Given the description of an element on the screen output the (x, y) to click on. 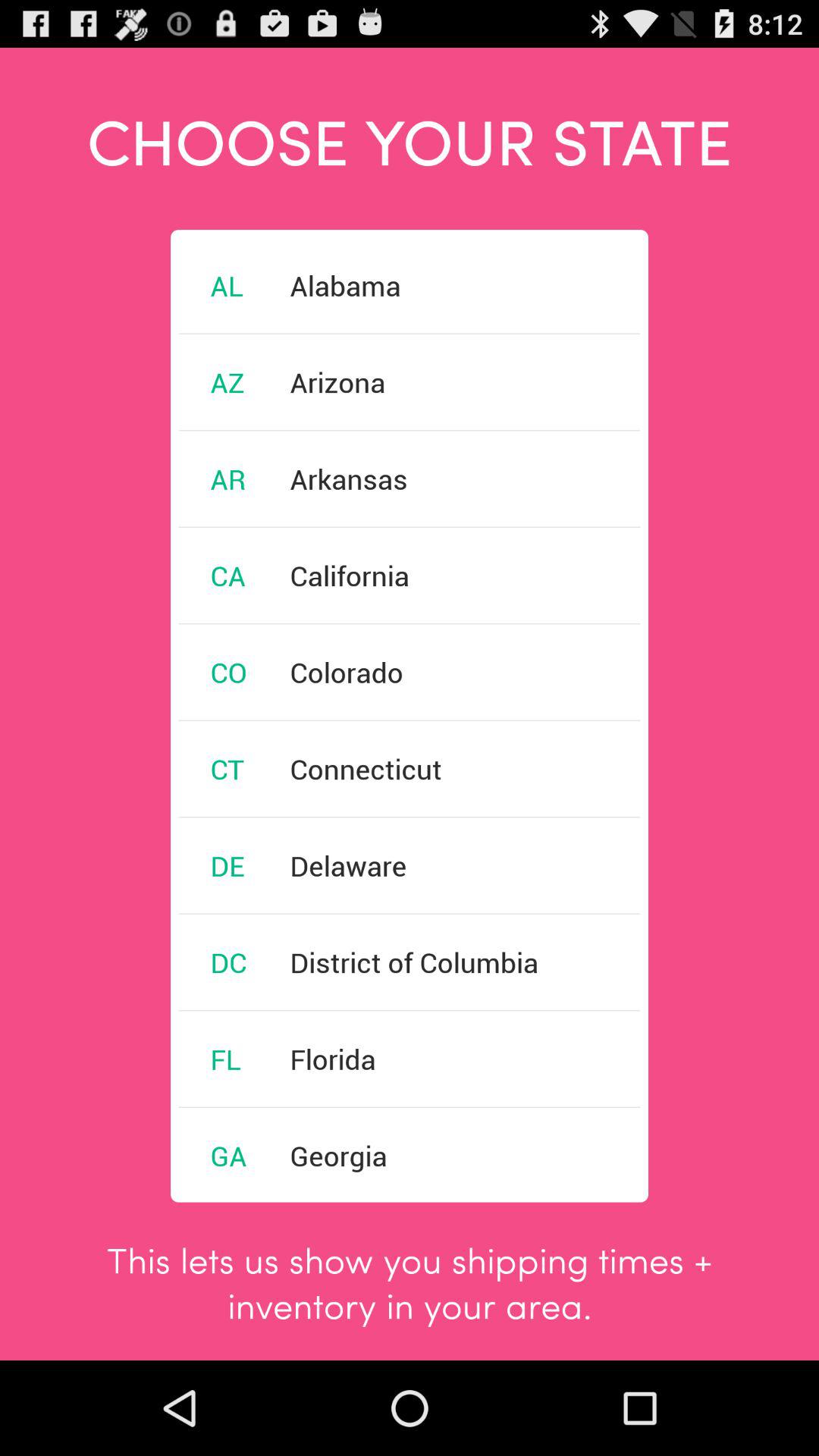
turn off the icon to the right of the ga item (338, 1155)
